Given the description of an element on the screen output the (x, y) to click on. 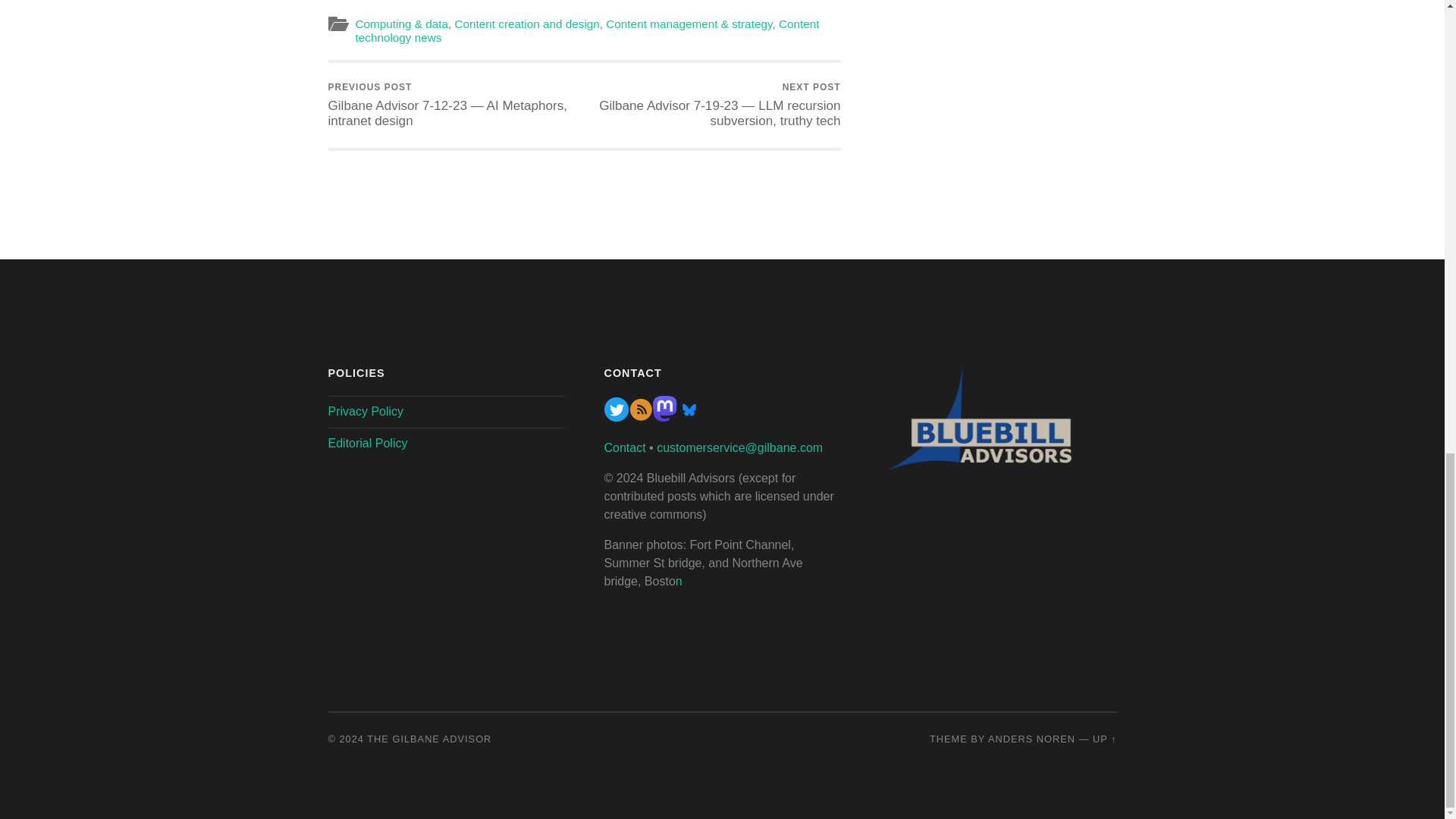
Gilbane Bluesky feed (688, 417)
Mastadon-logo-purple-32x34 (664, 417)
To the top (1104, 738)
Gilbane twitter feed (615, 417)
